Given the description of an element on the screen output the (x, y) to click on. 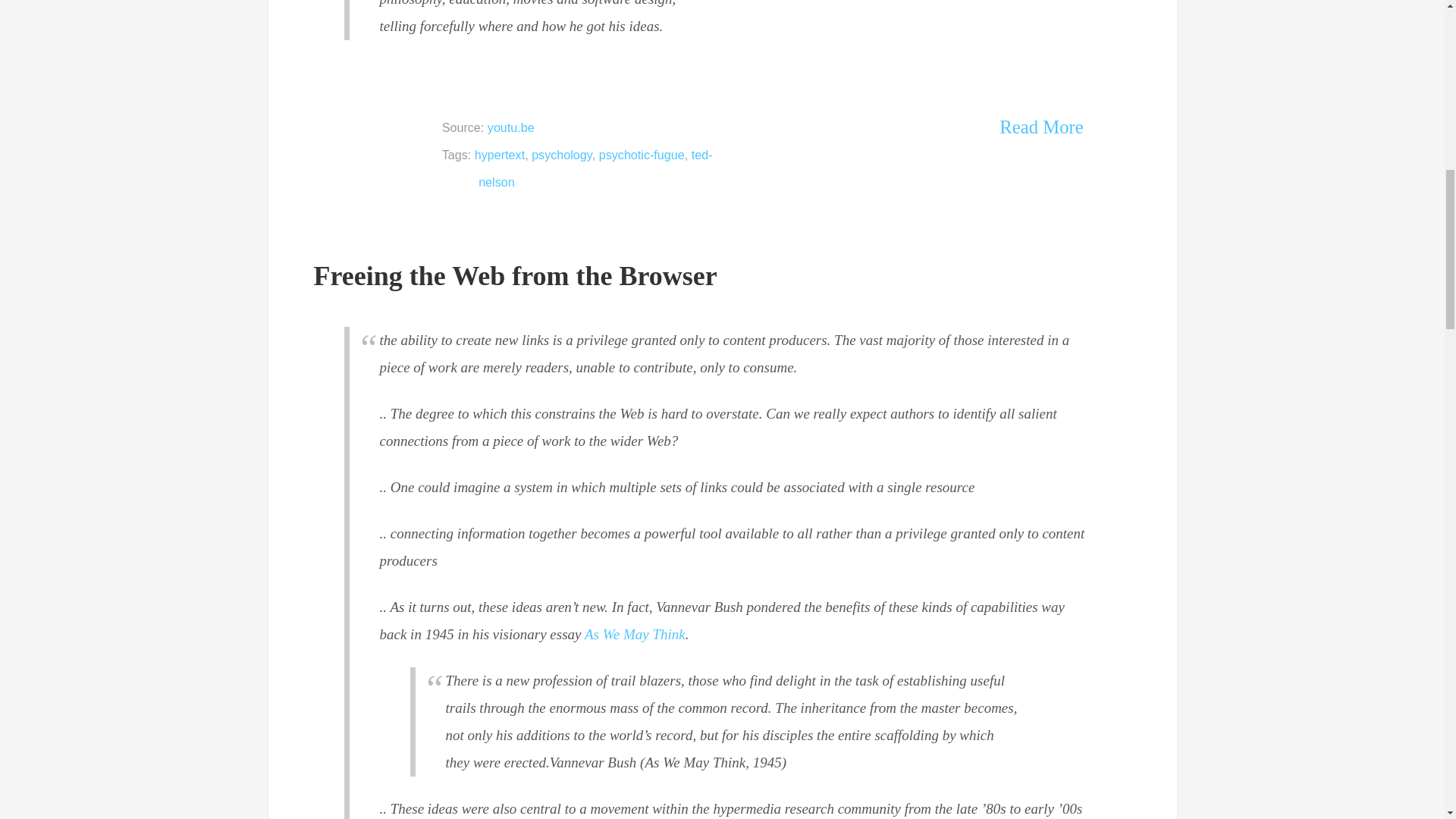
psychotic-fugue (641, 154)
psychology (561, 154)
Permalink to Freeing the Web from the Browser (515, 276)
ted-nelson (595, 168)
youtu.be (510, 127)
Read More (1040, 126)
As We May Think (635, 634)
hypertext (499, 154)
Freeing the Web from the Browser (515, 276)
